Given the description of an element on the screen output the (x, y) to click on. 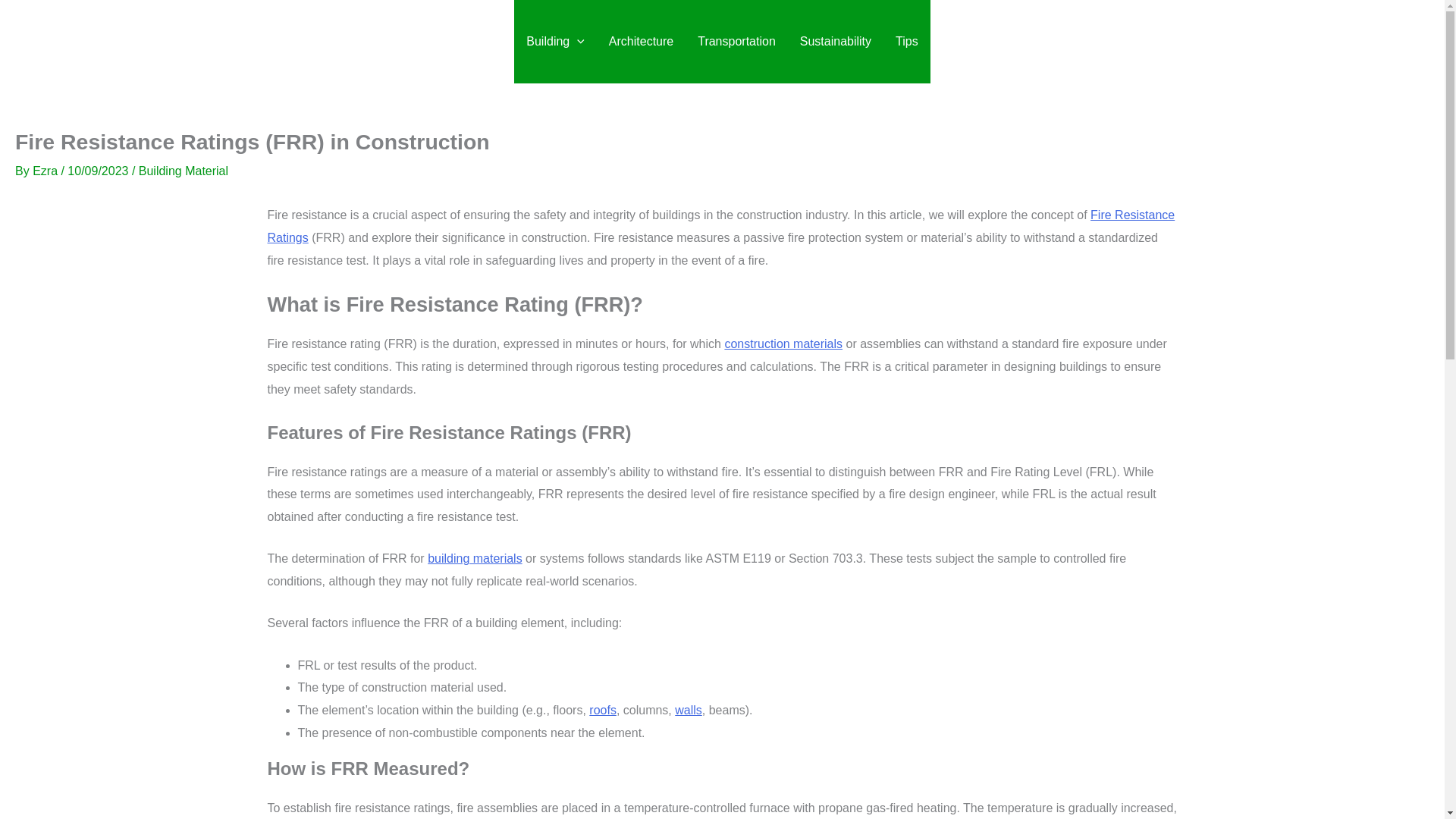
Building Material (183, 170)
Sustainability (835, 41)
construction materials (783, 343)
Fire Resistance Ratings (720, 226)
Transportation (736, 41)
walls (688, 709)
Architecture (640, 41)
View all posts by Ezra (46, 170)
Building (554, 41)
Ezra (46, 170)
